Given the description of an element on the screen output the (x, y) to click on. 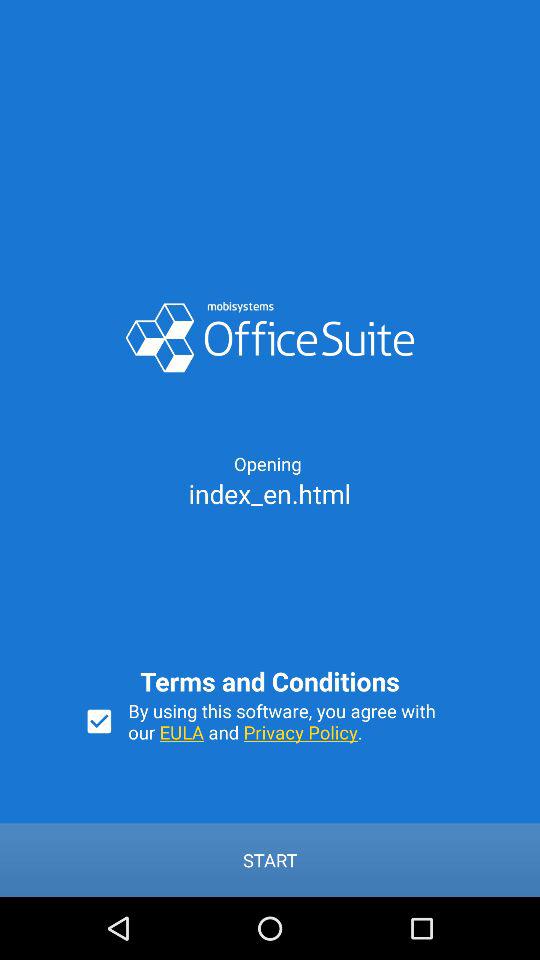
open app below the terms and conditions (292, 721)
